Given the description of an element on the screen output the (x, y) to click on. 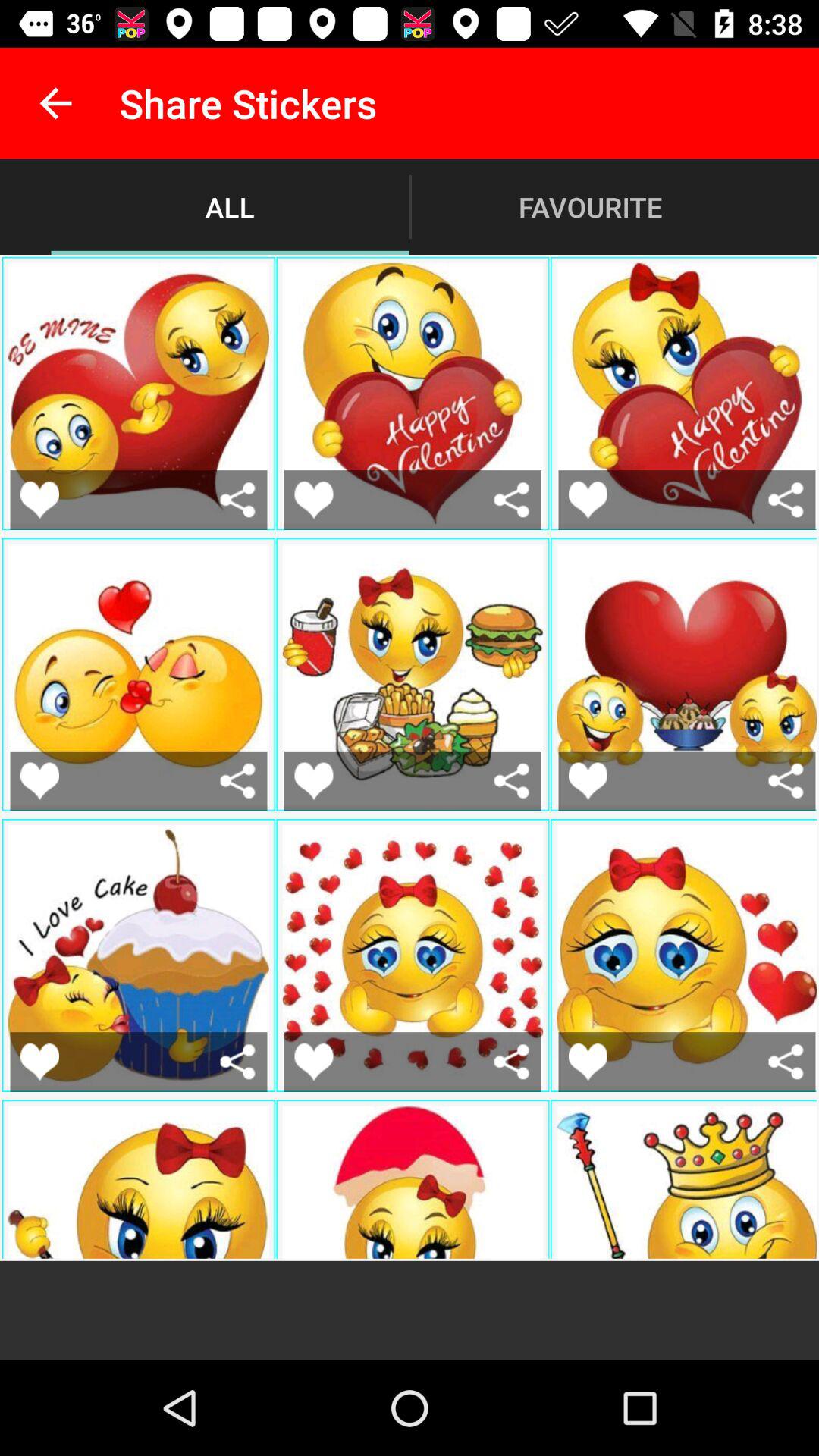
like the photo (587, 780)
